Given the description of an element on the screen output the (x, y) to click on. 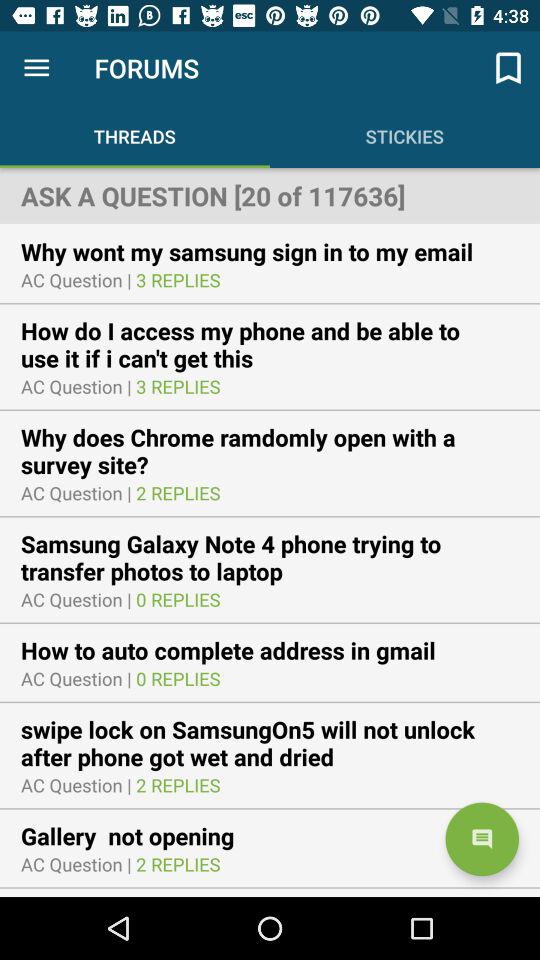
choose ask a question icon (270, 195)
